Given the description of an element on the screen output the (x, y) to click on. 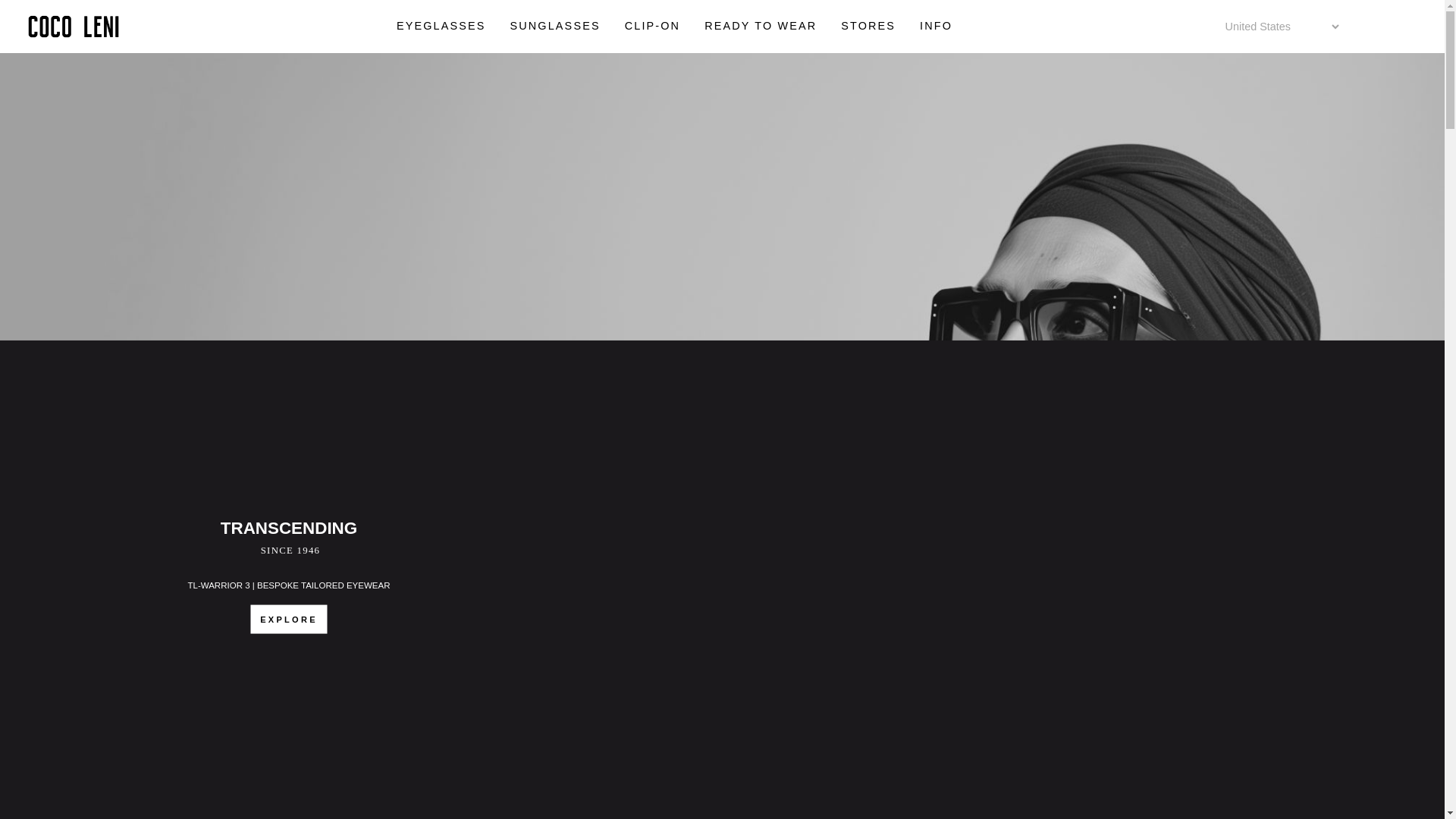
Country selection (1281, 26)
INFO (937, 26)
READY TO WEAR (760, 26)
TL-WARRIOR 3 (217, 583)
STORES (867, 26)
EYEGLASSES (440, 26)
SUNGLASSES (554, 26)
EXPLORE (288, 619)
CLIP-ON (652, 26)
